Given the description of an element on the screen output the (x, y) to click on. 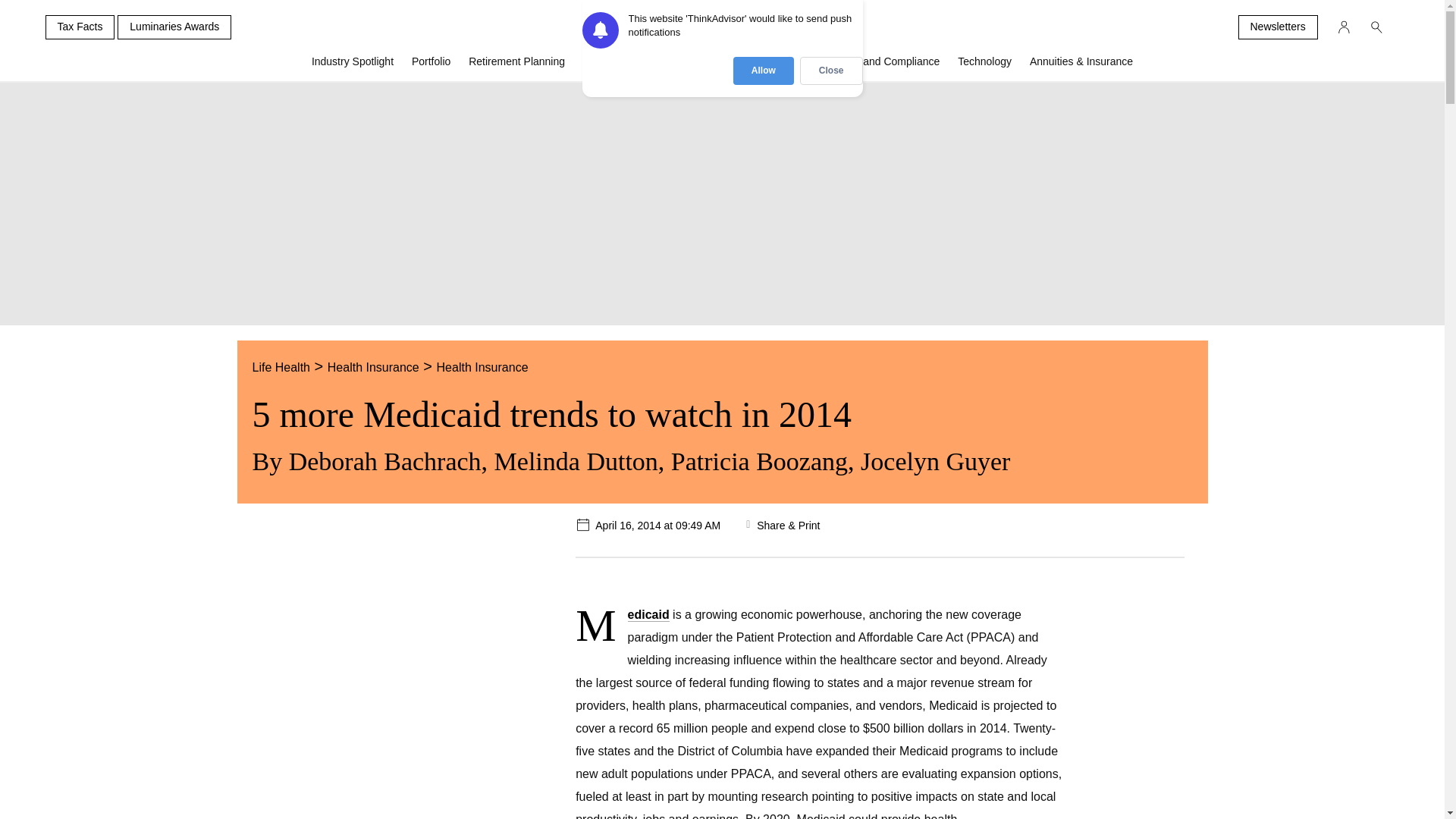
Newsletters (1277, 27)
Tax Facts (80, 27)
Luminaries Awards (174, 27)
3rd party ad content (372, 668)
Industry Spotlight (352, 67)
